Given the description of an element on the screen output the (x, y) to click on. 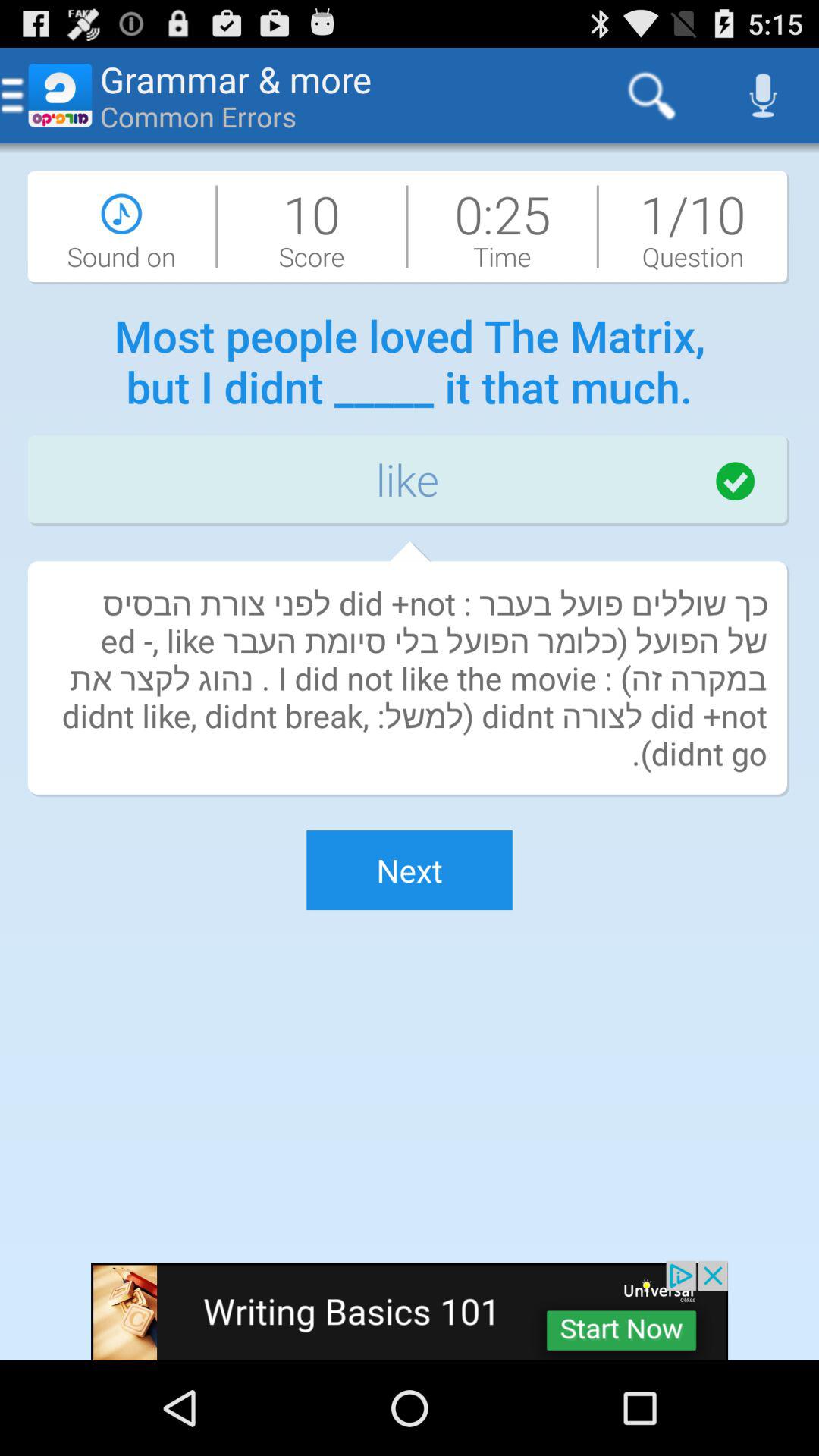
visit writing basics (409, 1310)
